Given the description of an element on the screen output the (x, y) to click on. 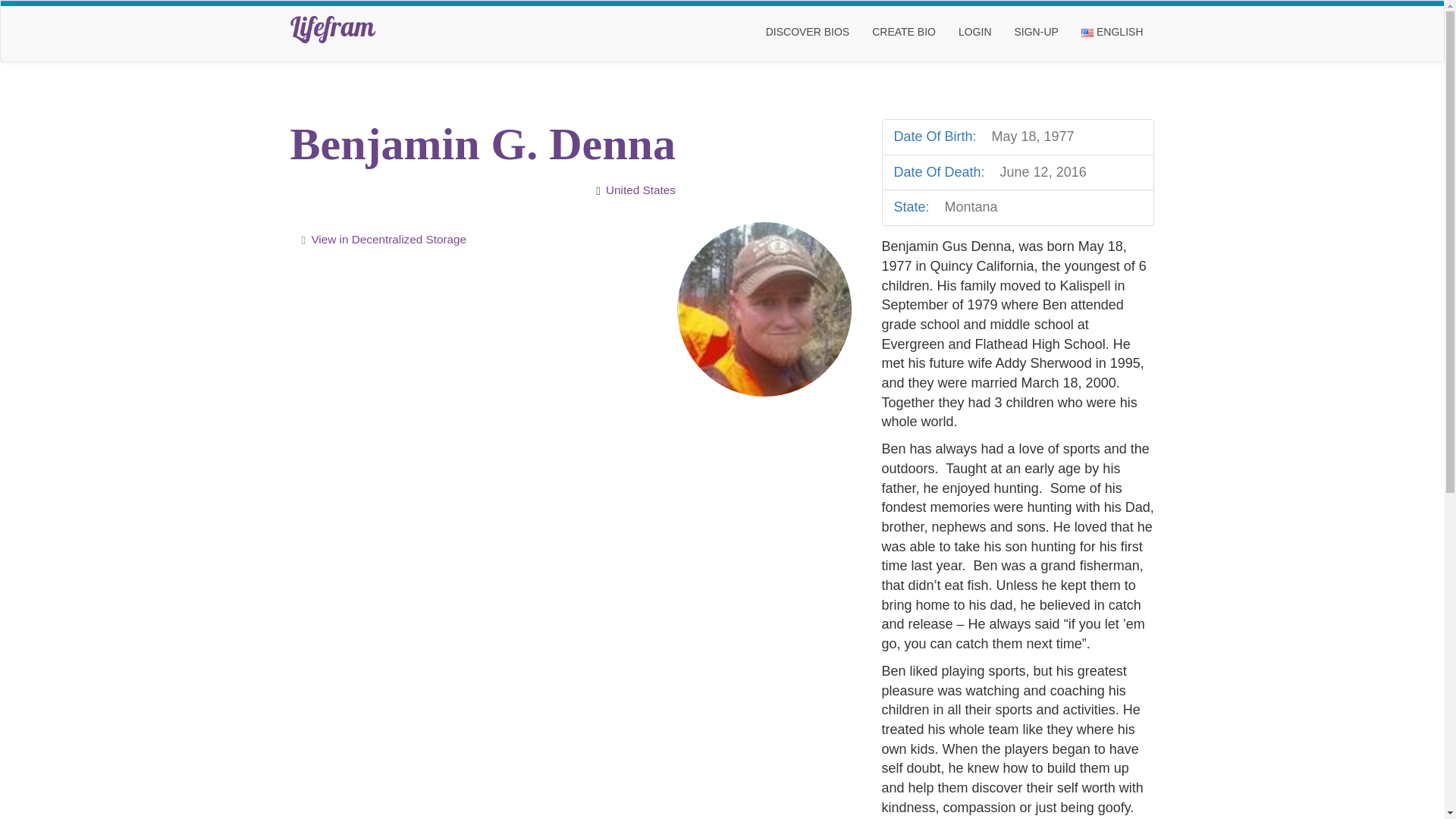
United States (640, 189)
SIGN-UP (1035, 31)
CREATE BIO (903, 31)
DISCOVER BIOS (807, 31)
View in Decentralized Storage (388, 238)
LOGIN (975, 31)
ENGLISH (1112, 31)
